Given the description of an element on the screen output the (x, y) to click on. 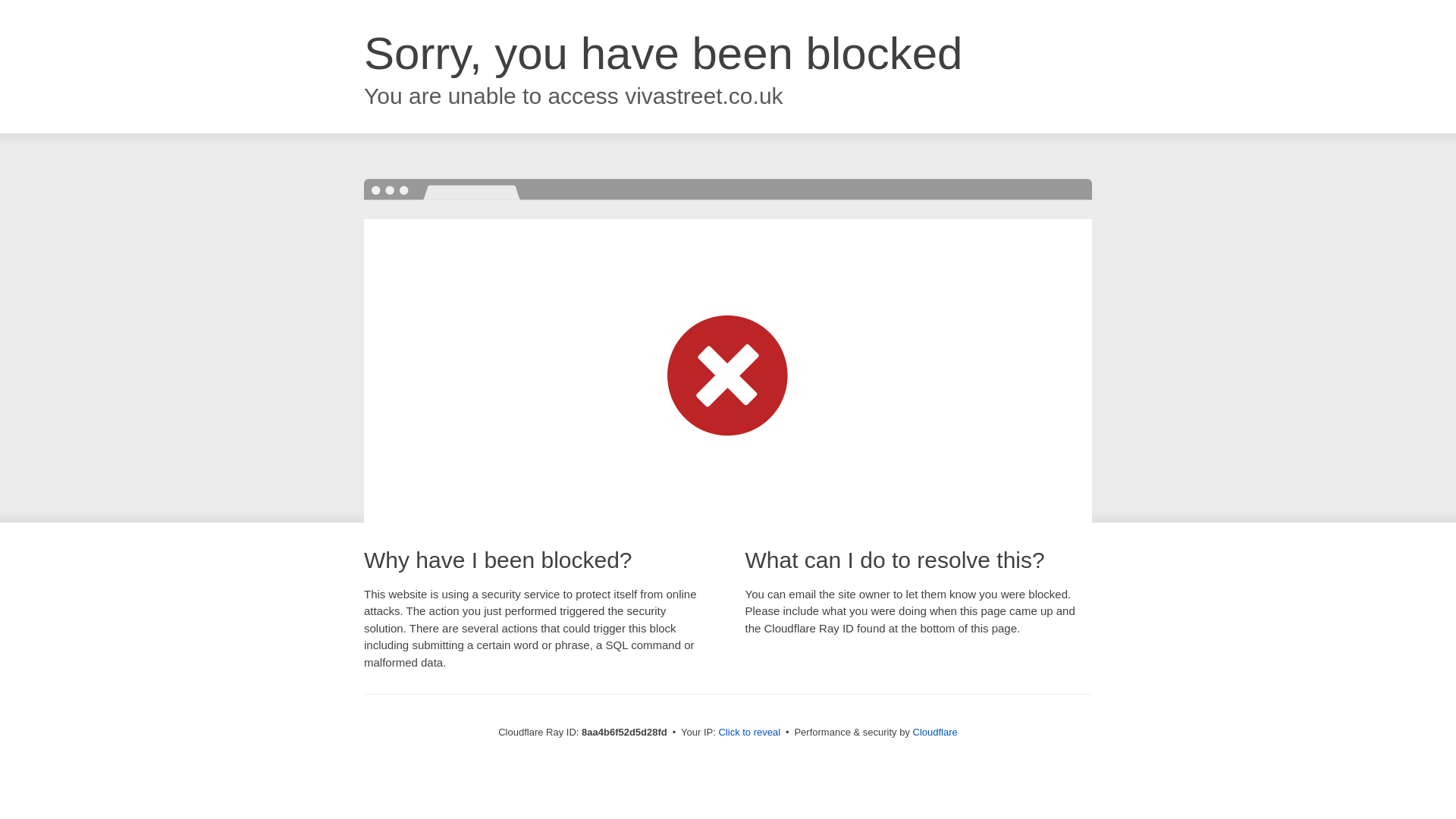
Click to reveal (748, 732)
Cloudflare (935, 731)
